Given the description of an element on the screen output the (x, y) to click on. 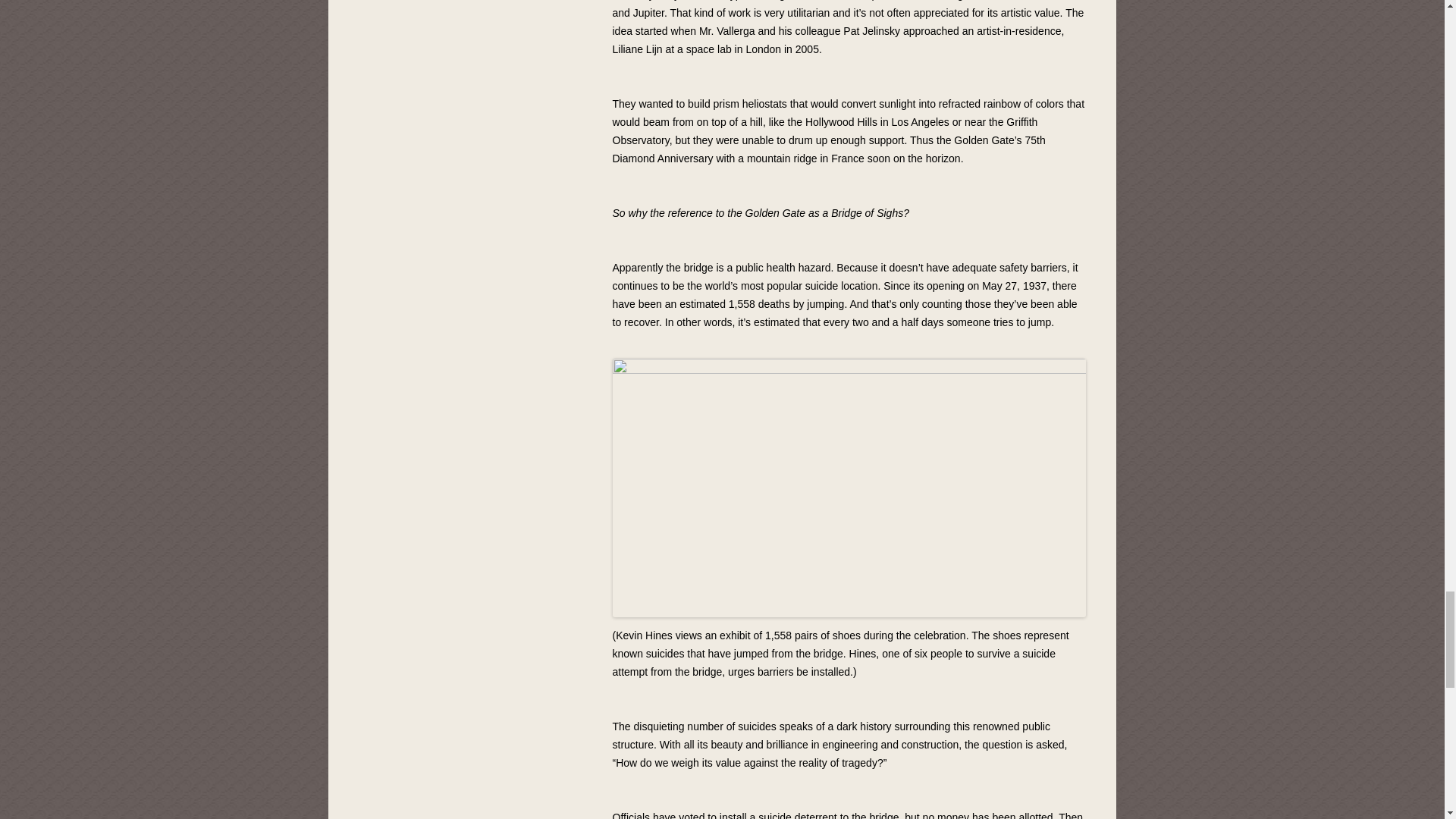
Shoes (849, 488)
